Given the description of an element on the screen output the (x, y) to click on. 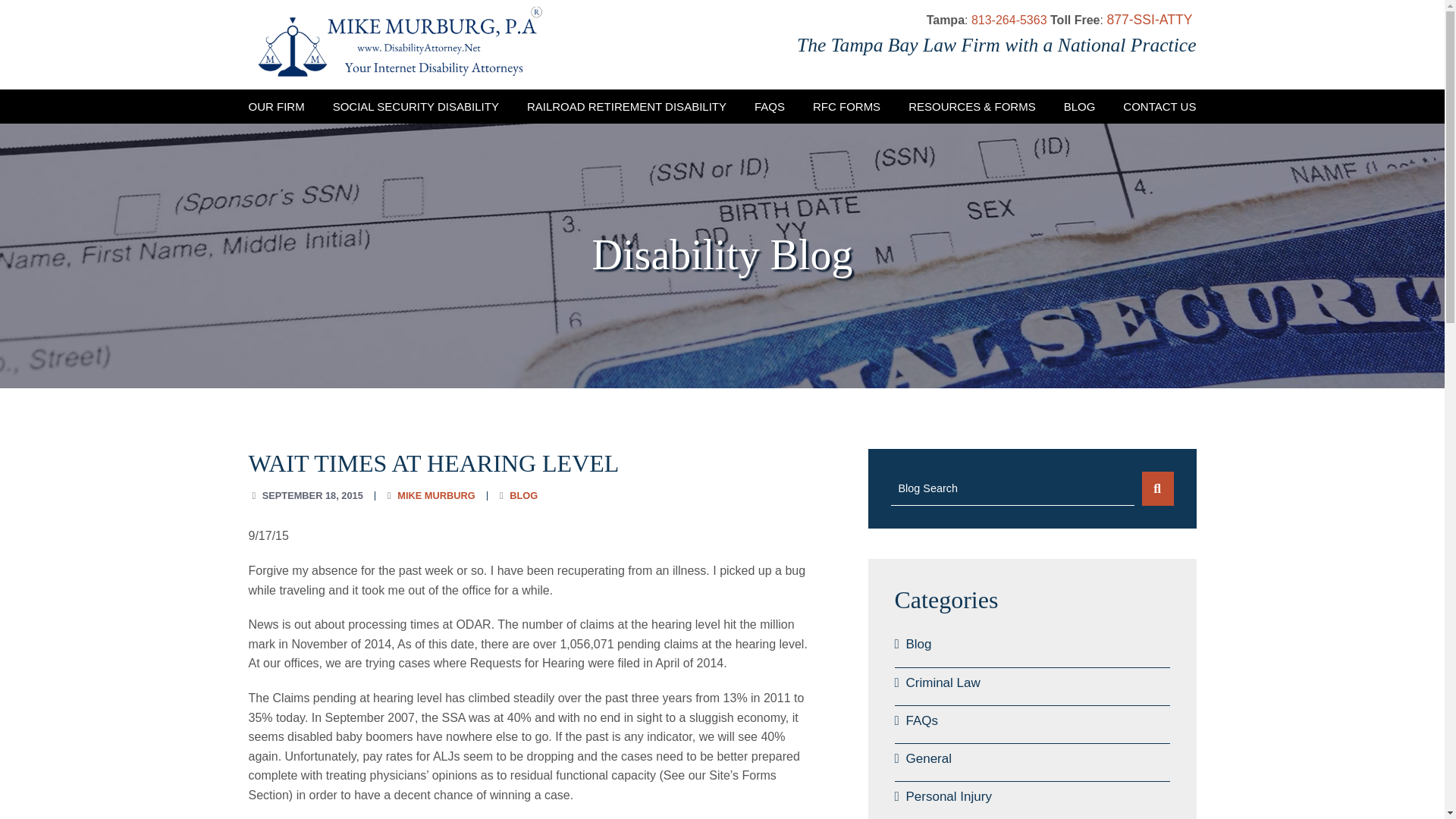
Posts by Mike Murburg (435, 495)
